Given the description of an element on the screen output the (x, y) to click on. 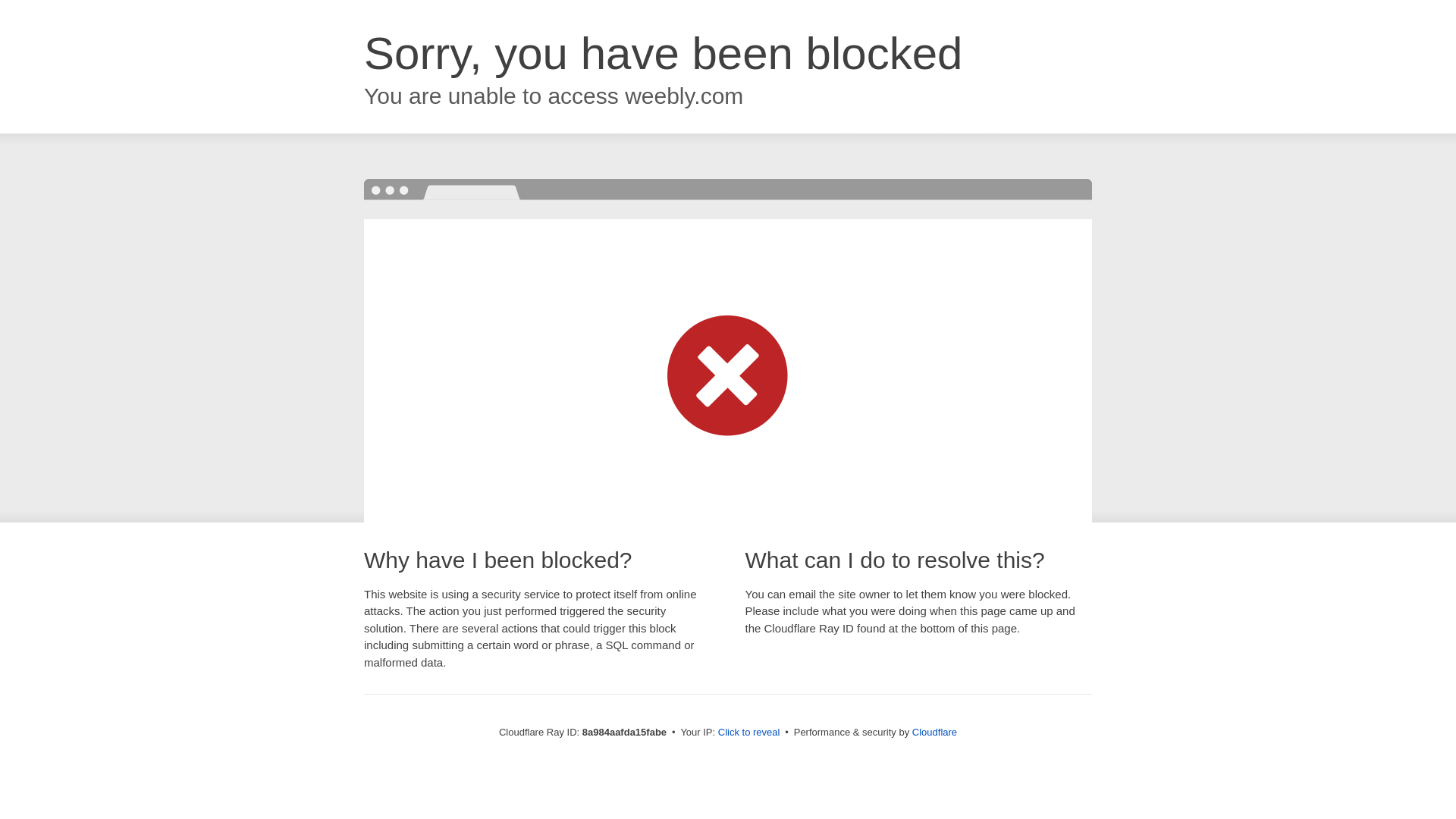
Cloudflare (934, 731)
Click to reveal (748, 732)
